Given the description of an element on the screen output the (x, y) to click on. 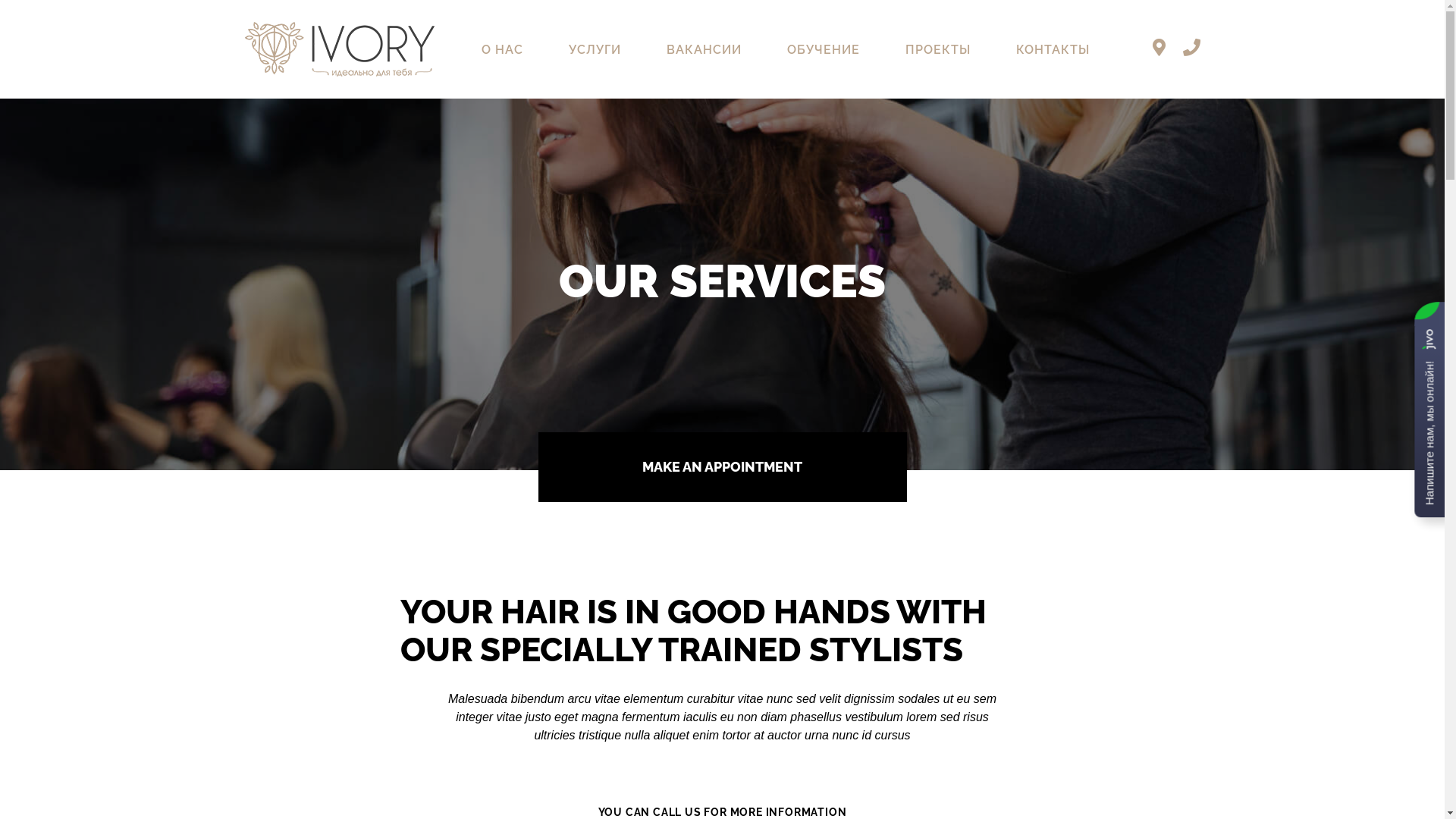
MAKE AN APPOINTMENT Element type: text (722, 467)
